Given the description of an element on the screen output the (x, y) to click on. 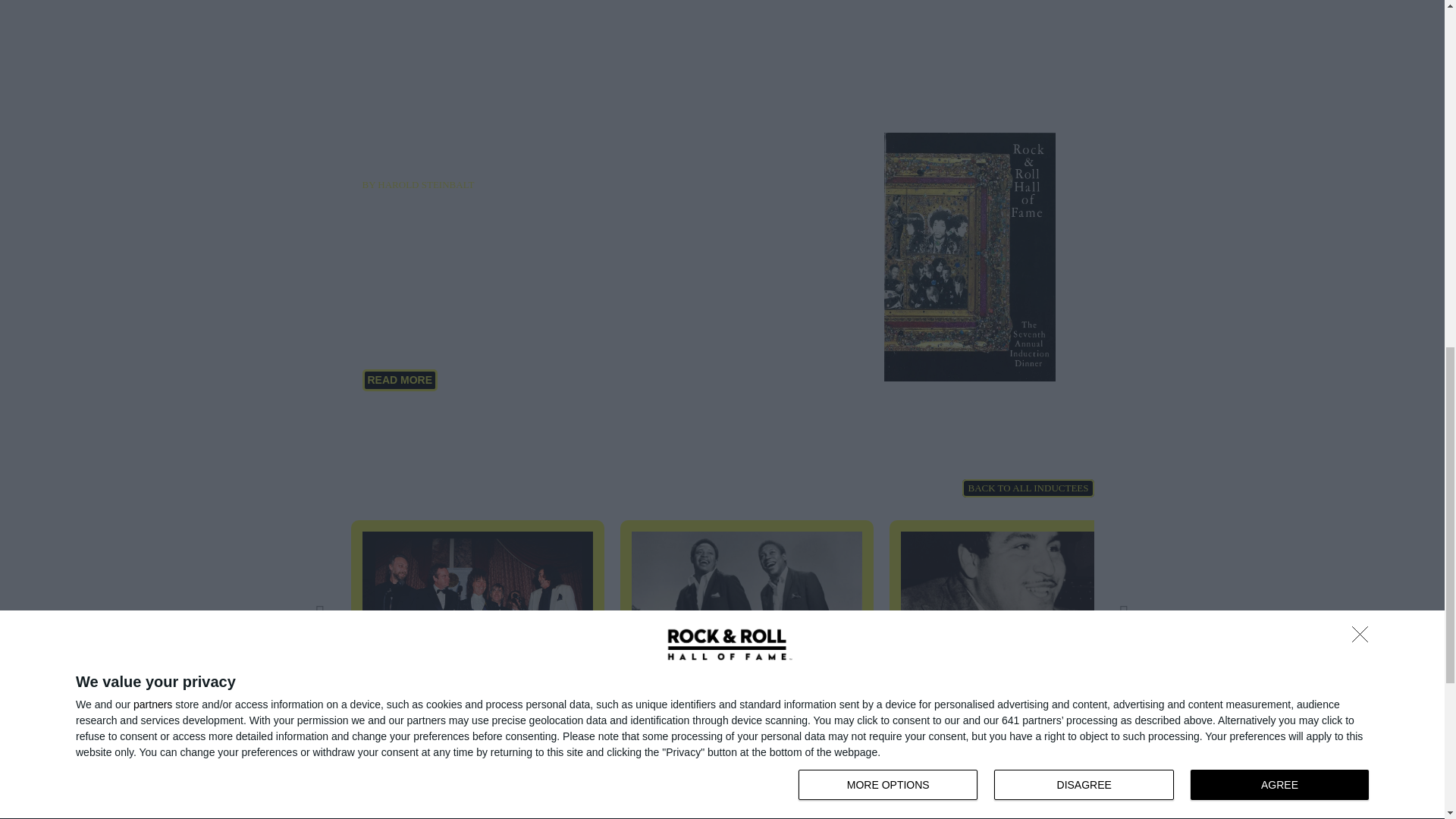
DOC POMUS (1014, 615)
THE YARDBIRDS (477, 615)
READ MORE (400, 380)
BACK TO ALL INDUCTEES (1027, 488)
SAM AND DAVE (746, 615)
